Given the description of an element on the screen output the (x, y) to click on. 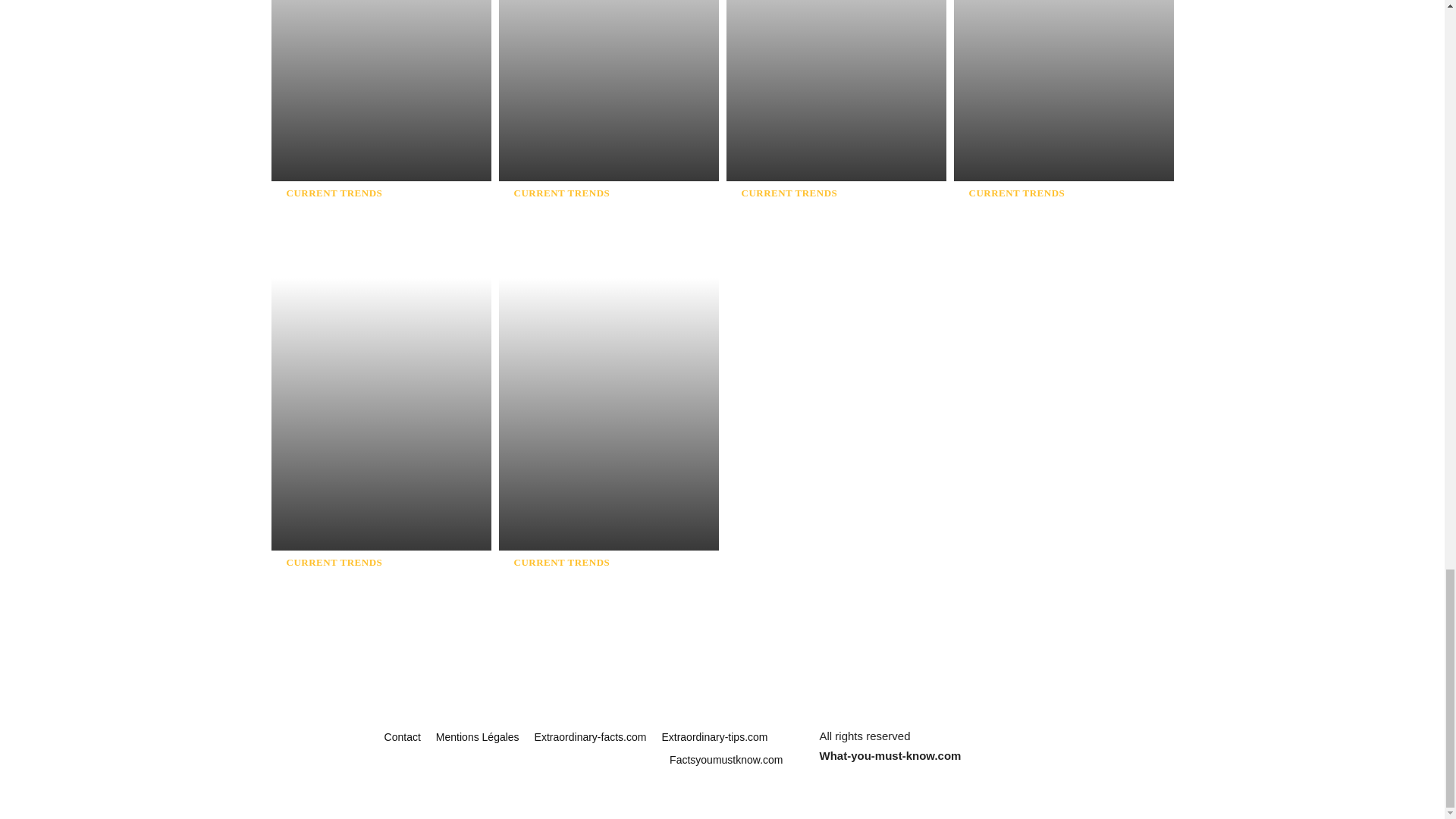
What is the best Rizk Casino games online ? (354, 216)
How to install a single hole bathroom faucet ? (583, 216)
When to install minecraft forge client vs server installer ? (806, 225)
When to install minecraft forge client vs server installer ? (806, 225)
CURRENT TRENDS (1017, 193)
CURRENT TRENDS (789, 193)
CURRENT TRENDS (561, 193)
How to install a single hole bathroom faucet ? (583, 216)
CURRENT TRENDS (334, 562)
What is the best Rizk Casino games online ? (354, 216)
CURRENT TRENDS (334, 193)
